Given the description of an element on the screen output the (x, y) to click on. 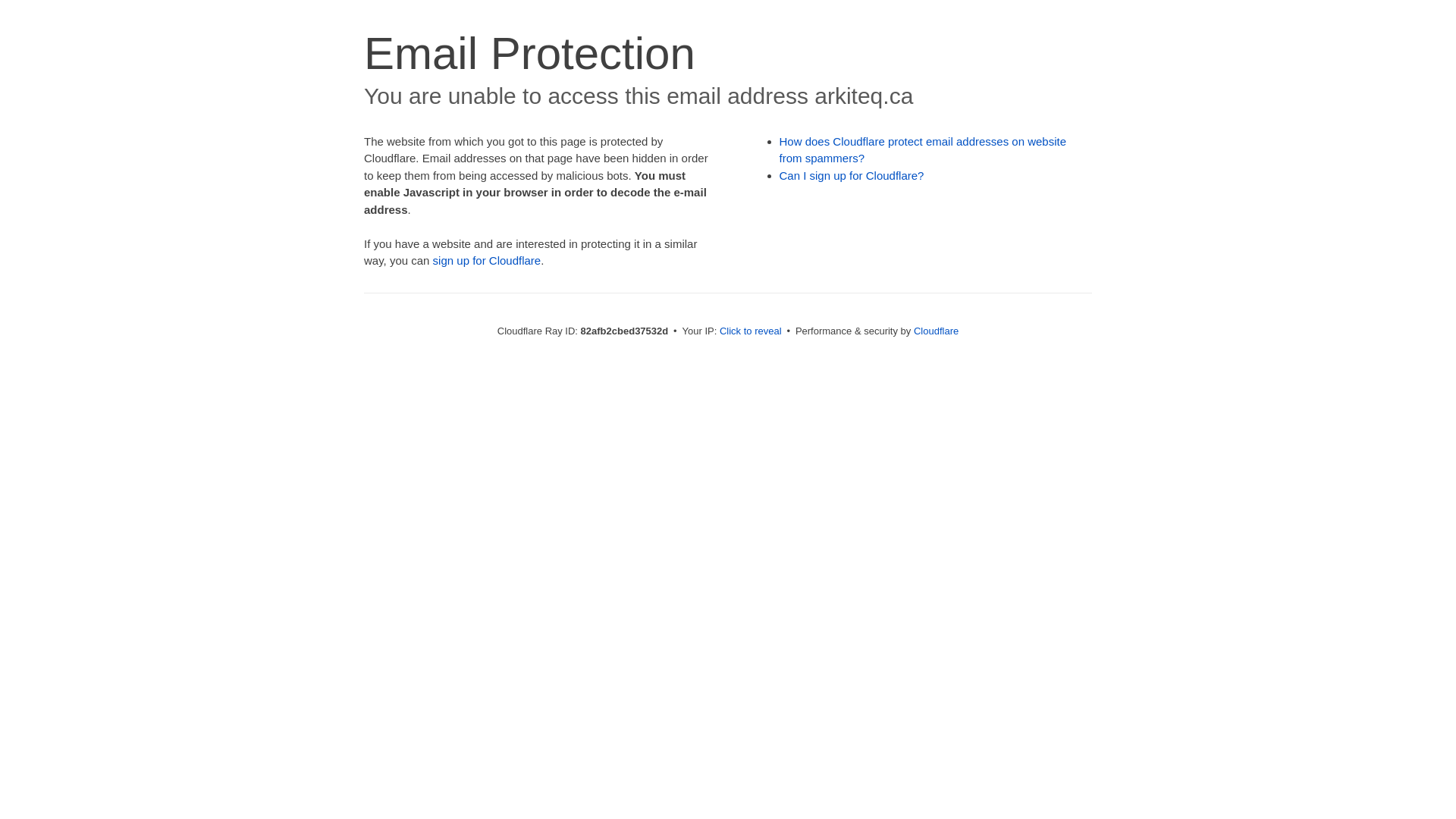
Click to reveal Element type: text (750, 330)
Cloudflare Element type: text (935, 330)
sign up for Cloudflare Element type: text (487, 260)
Can I sign up for Cloudflare? Element type: text (851, 175)
